Given the description of an element on the screen output the (x, y) to click on. 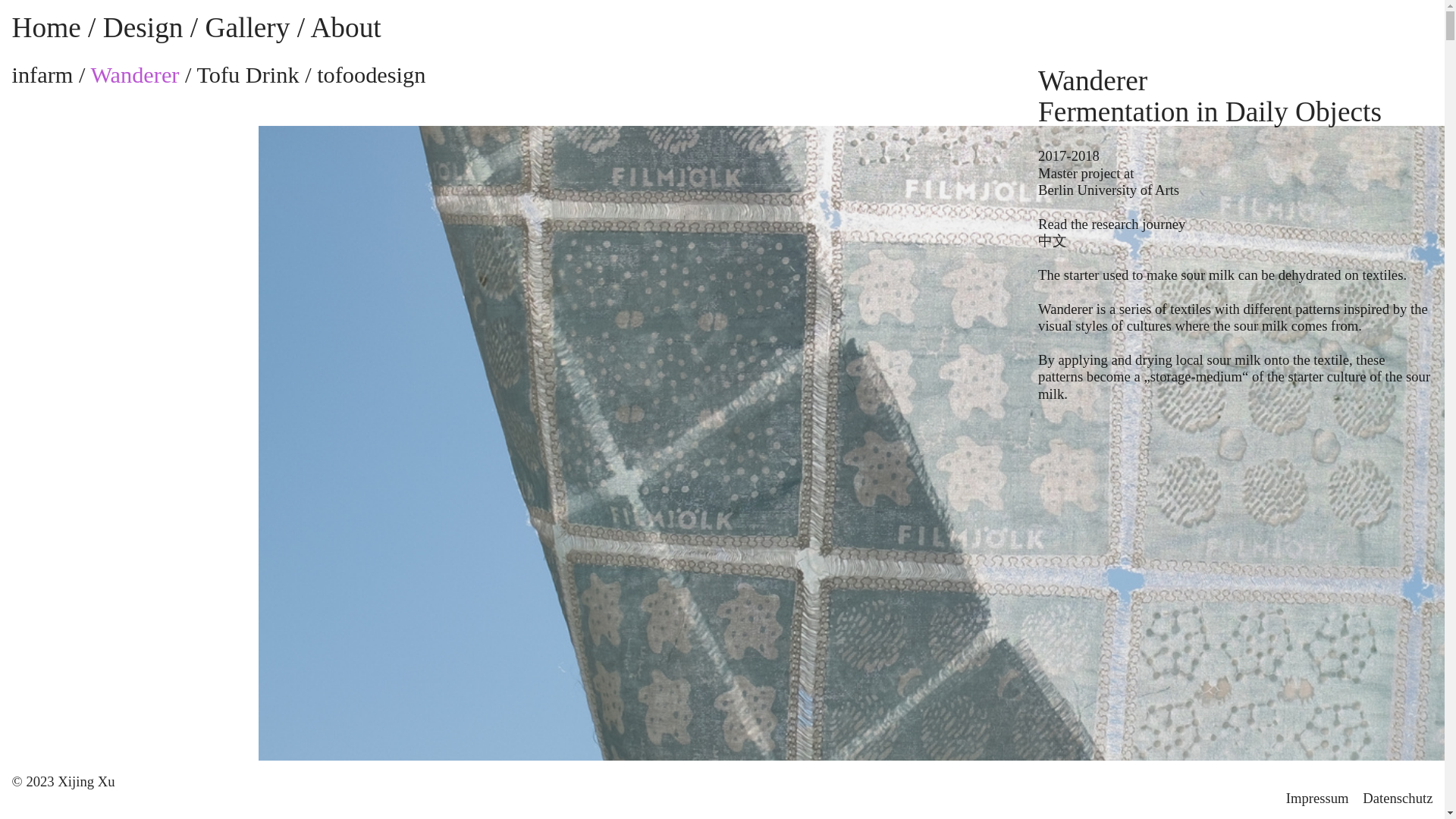
About (345, 27)
tofoodesign (371, 74)
Tofu Drink (247, 74)
Gallery (247, 27)
Design (143, 27)
Datenschutz (1397, 797)
Home (46, 27)
infarm (42, 74)
Wanderer (134, 74)
Impressum (1317, 797)
